Given the description of an element on the screen output the (x, y) to click on. 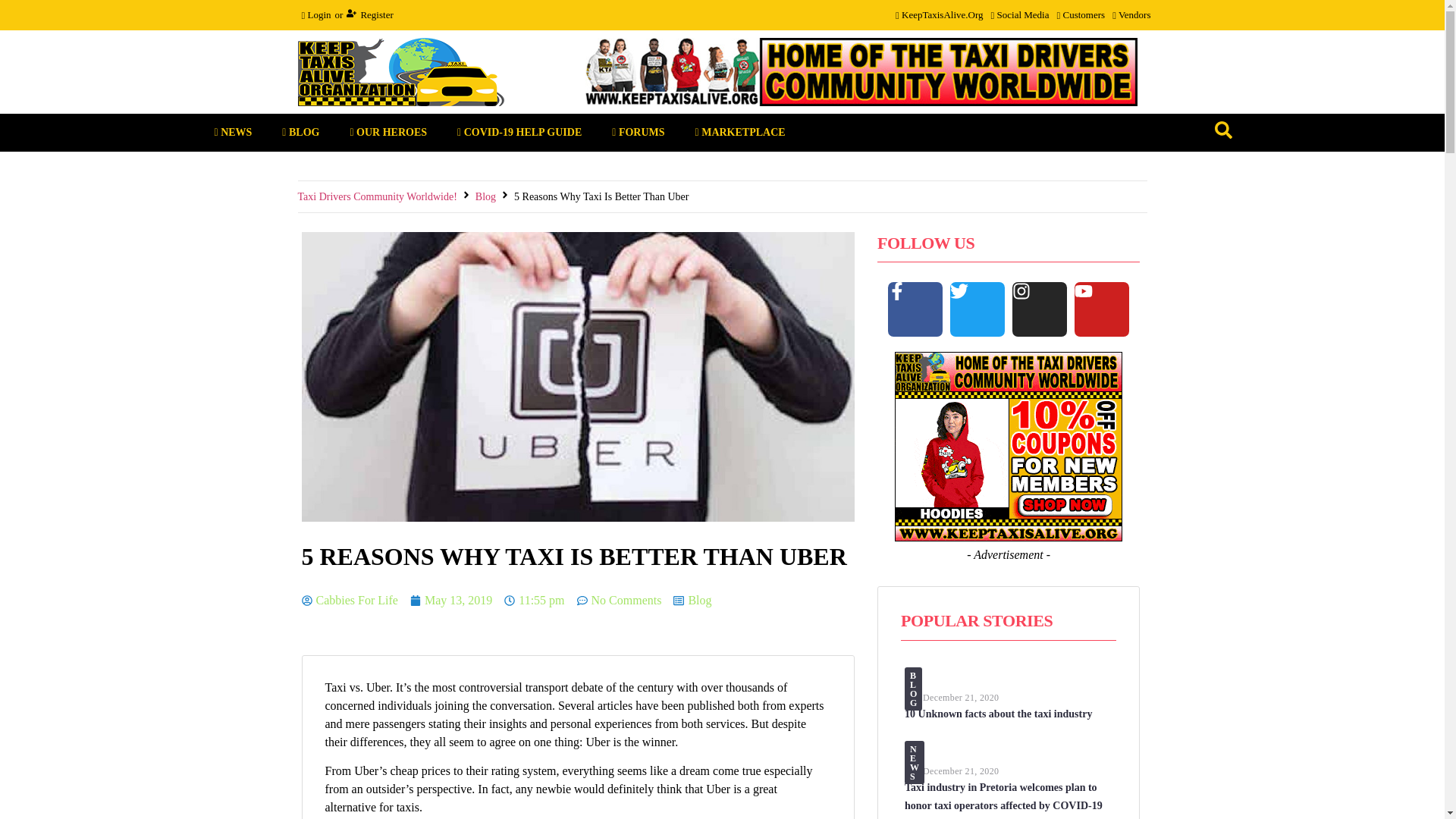
2020-12-21T06:06:56-06:00 (960, 770)
 KeepTaxisAlive.Org (939, 14)
 Login (315, 14)
 BLOG (300, 132)
Register (369, 14)
Blog (486, 196)
Taxi Drivers Community Worldwide! (377, 196)
 COVID-19 HELP GUIDE (519, 132)
2020-12-21T07:22:12-06:00 (960, 697)
 OUR HEROES (388, 132)
 Vendors (1131, 14)
 Social Media (1019, 14)
 NEWS (232, 132)
 Customers (1080, 14)
